Given the description of an element on the screen output the (x, y) to click on. 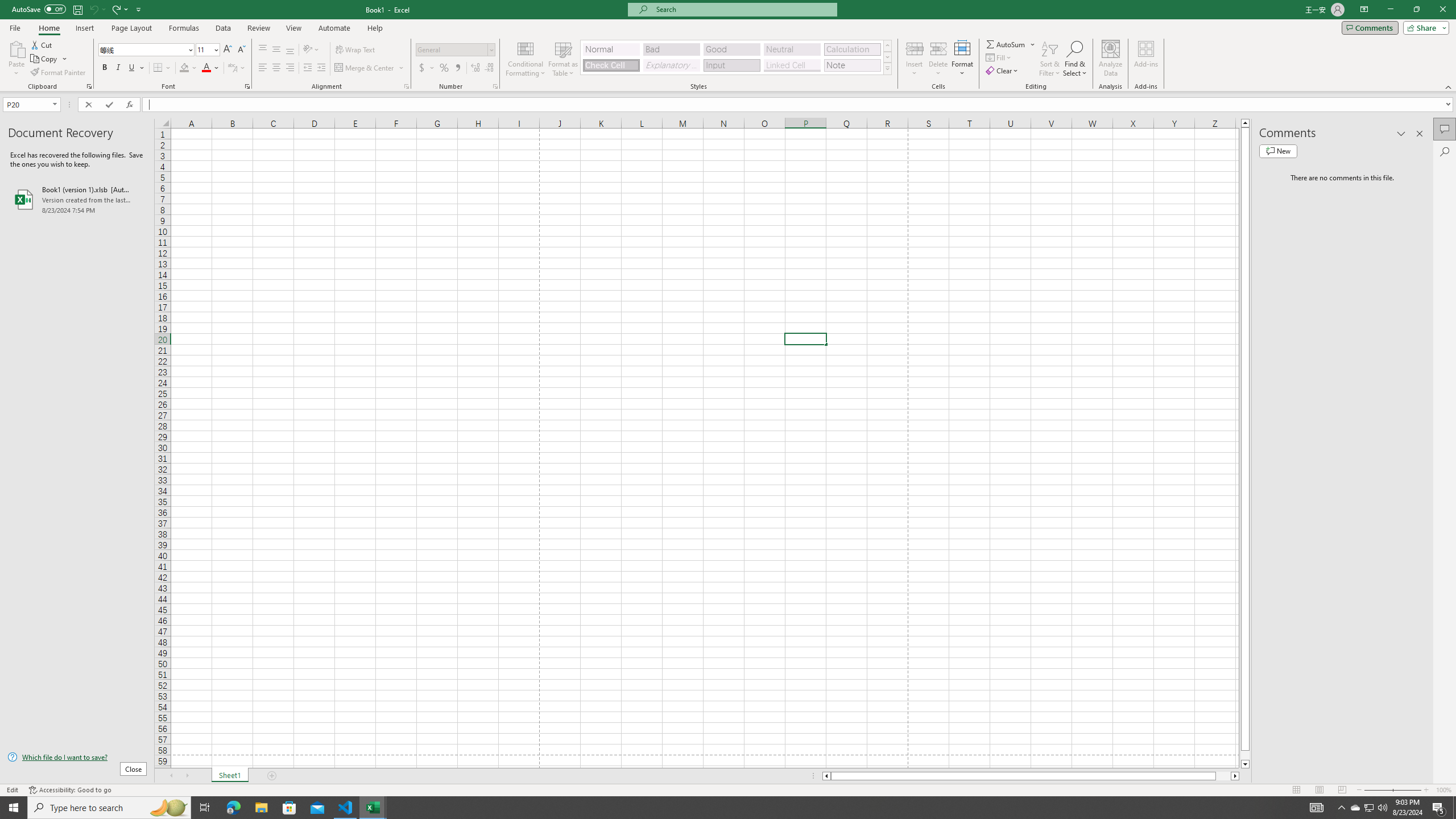
Borders (162, 67)
Format Cell Alignment (405, 85)
Increase Decimal (474, 67)
AutoSum (1011, 44)
Clear (1003, 69)
Accessibility Checker Accessibility: Good to go (70, 790)
AutoSave (38, 9)
Good (731, 49)
Search (1444, 151)
Underline (131, 67)
Explanatory Text (671, 65)
Customize Quick Access Toolbar (139, 9)
New comment (1278, 151)
Note (852, 65)
